Given the description of an element on the screen output the (x, y) to click on. 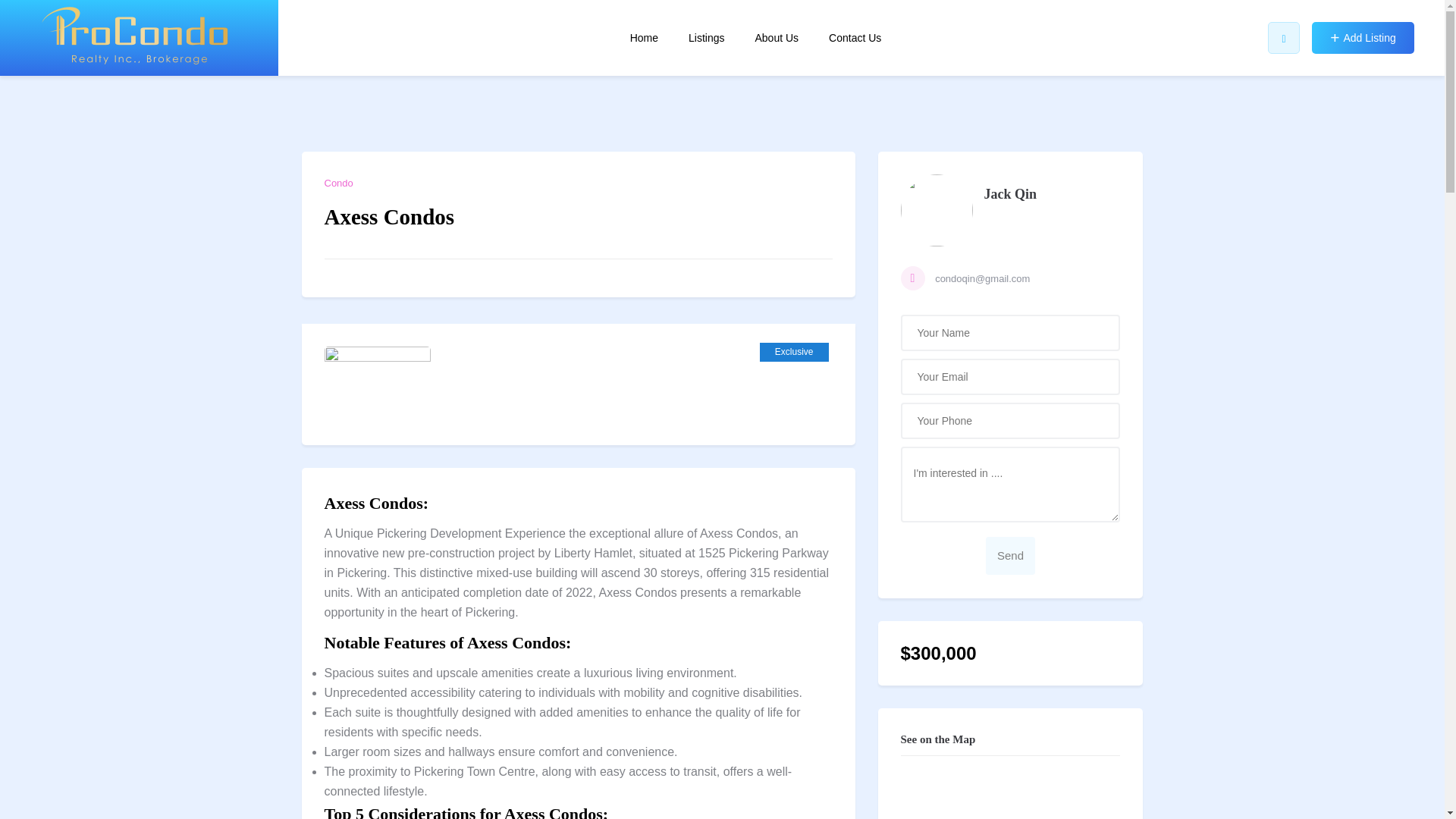
Add Listing (1362, 38)
Condo (338, 183)
Email (1011, 279)
Send (1010, 555)
Listings (705, 37)
Contact Us (854, 37)
Exclusive (794, 352)
Home (644, 37)
About Us (775, 37)
